Given the description of an element on the screen output the (x, y) to click on. 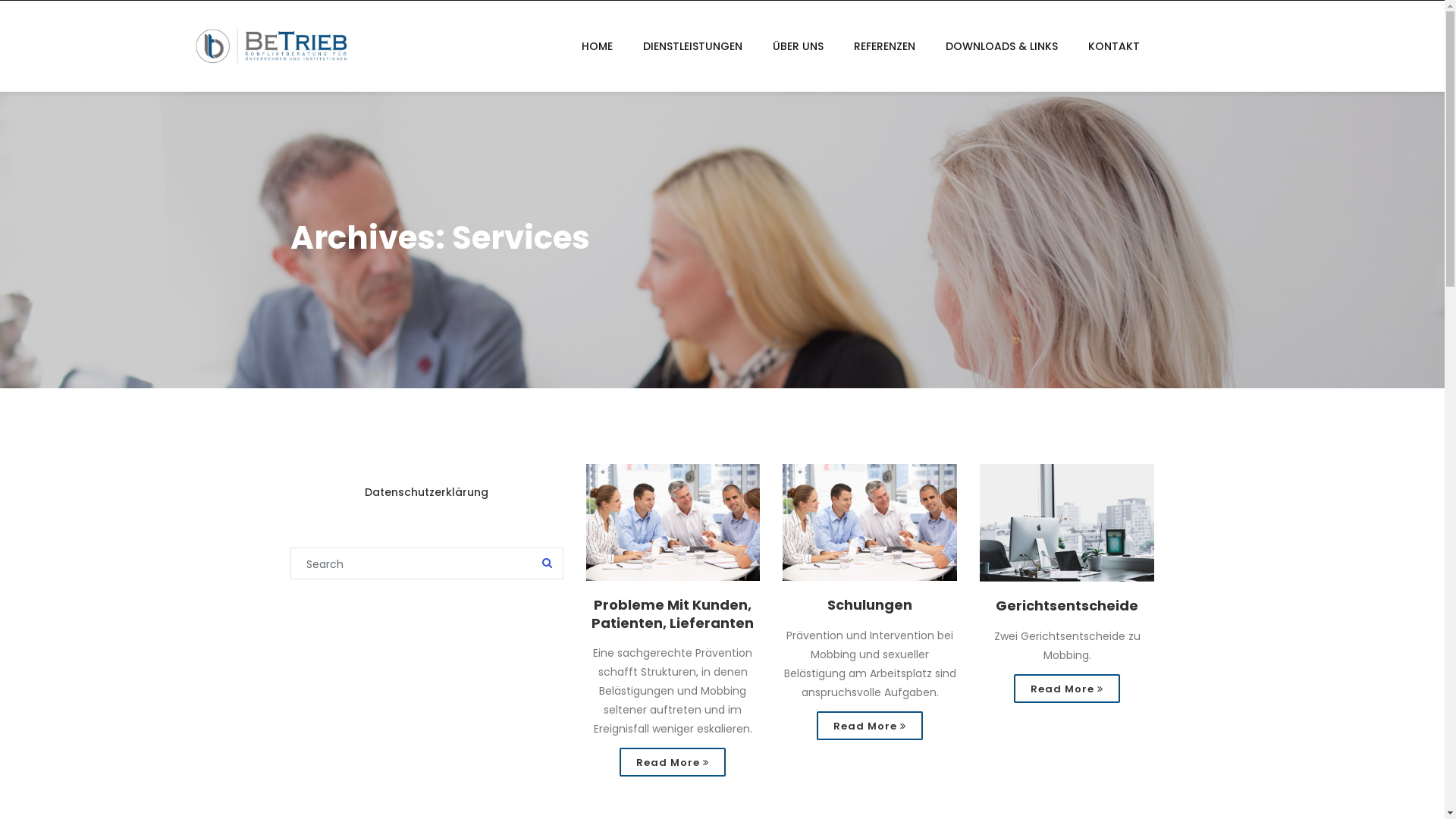
Read More Element type: text (672, 761)
Read More Element type: text (1066, 688)
Gerichtsentscheide Element type: text (1066, 605)
Search Element type: text (546, 564)
REFERENZEN Element type: text (884, 45)
Schulungen Element type: text (869, 605)
DIENSTLEISTUNGEN Element type: text (692, 45)
KONTAKT Element type: text (1113, 45)
Probleme Mit Kunden, Patienten, Lieferanten Element type: text (672, 614)
Read More Element type: text (869, 725)
HOME Element type: text (596, 45)
DOWNLOADS & LINKS Element type: text (1000, 45)
